Given the description of an element on the screen output the (x, y) to click on. 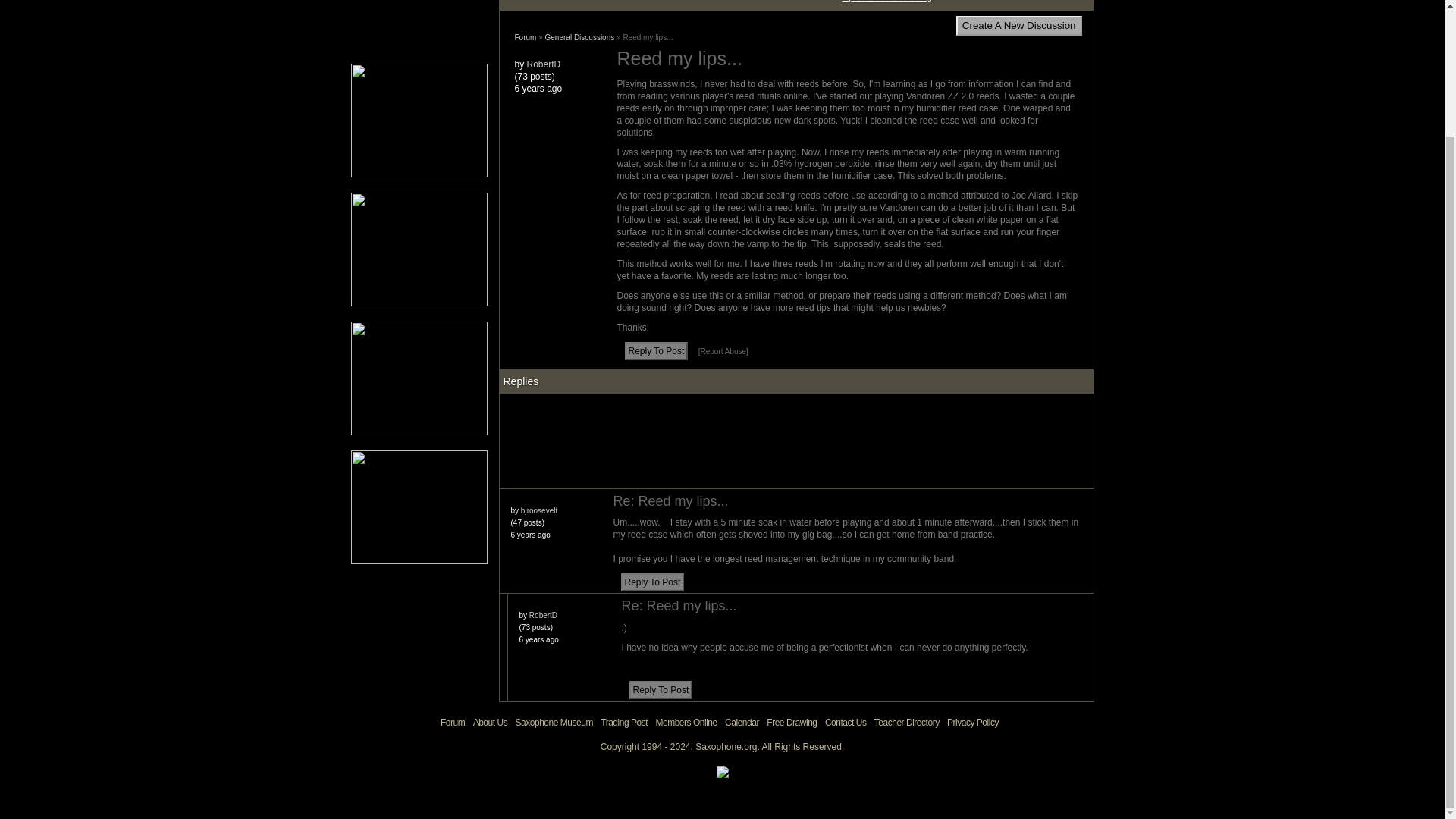
Create A New Discussion (1018, 25)
